Given the description of an element on the screen output the (x, y) to click on. 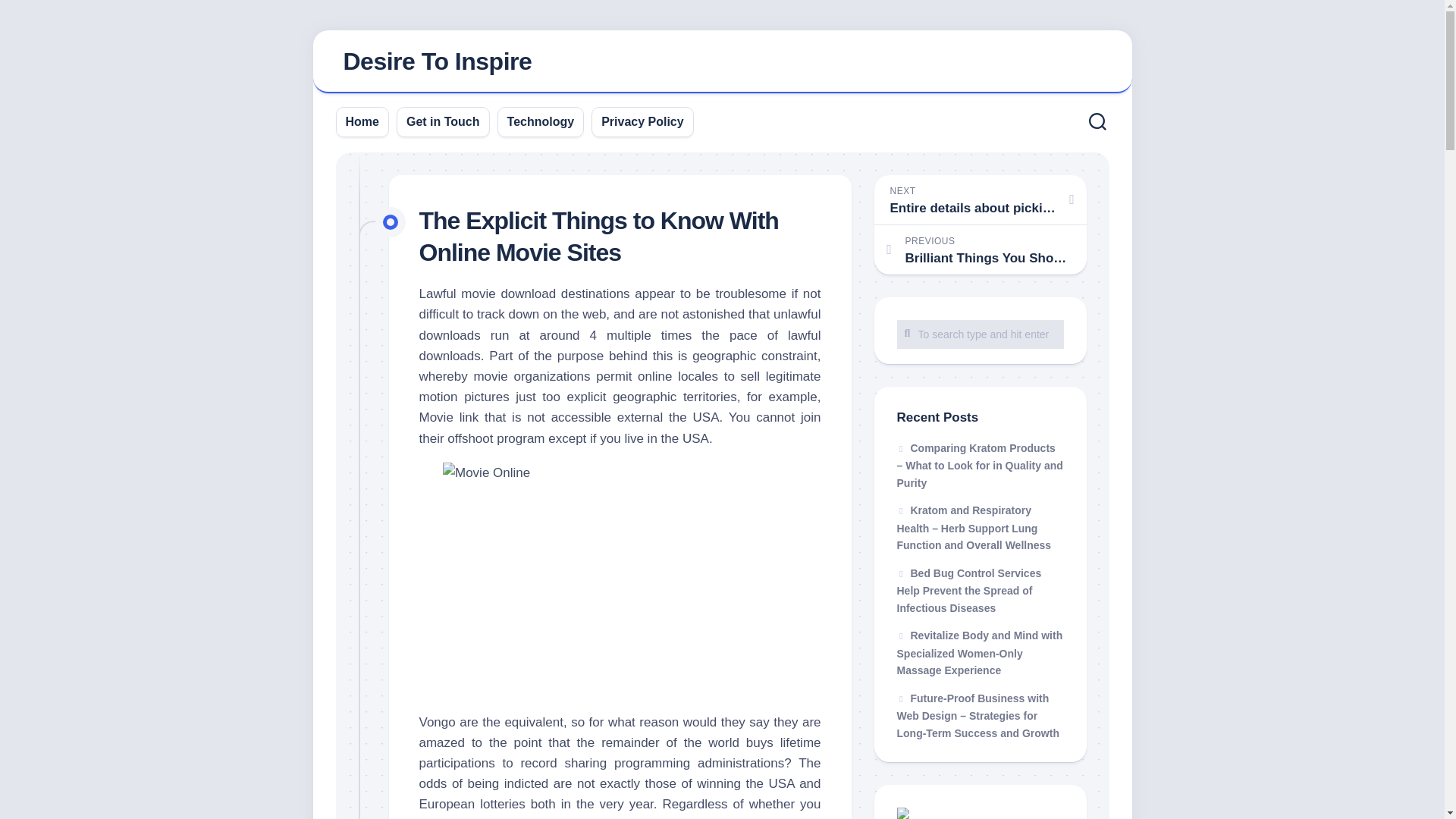
To search type and hit enter (979, 334)
Desire To Inspire (722, 62)
Desire To Inspire (979, 199)
Technology (436, 61)
To search type and hit enter (540, 121)
Get in Touch (979, 334)
Privacy Policy (443, 121)
